Given the description of an element on the screen output the (x, y) to click on. 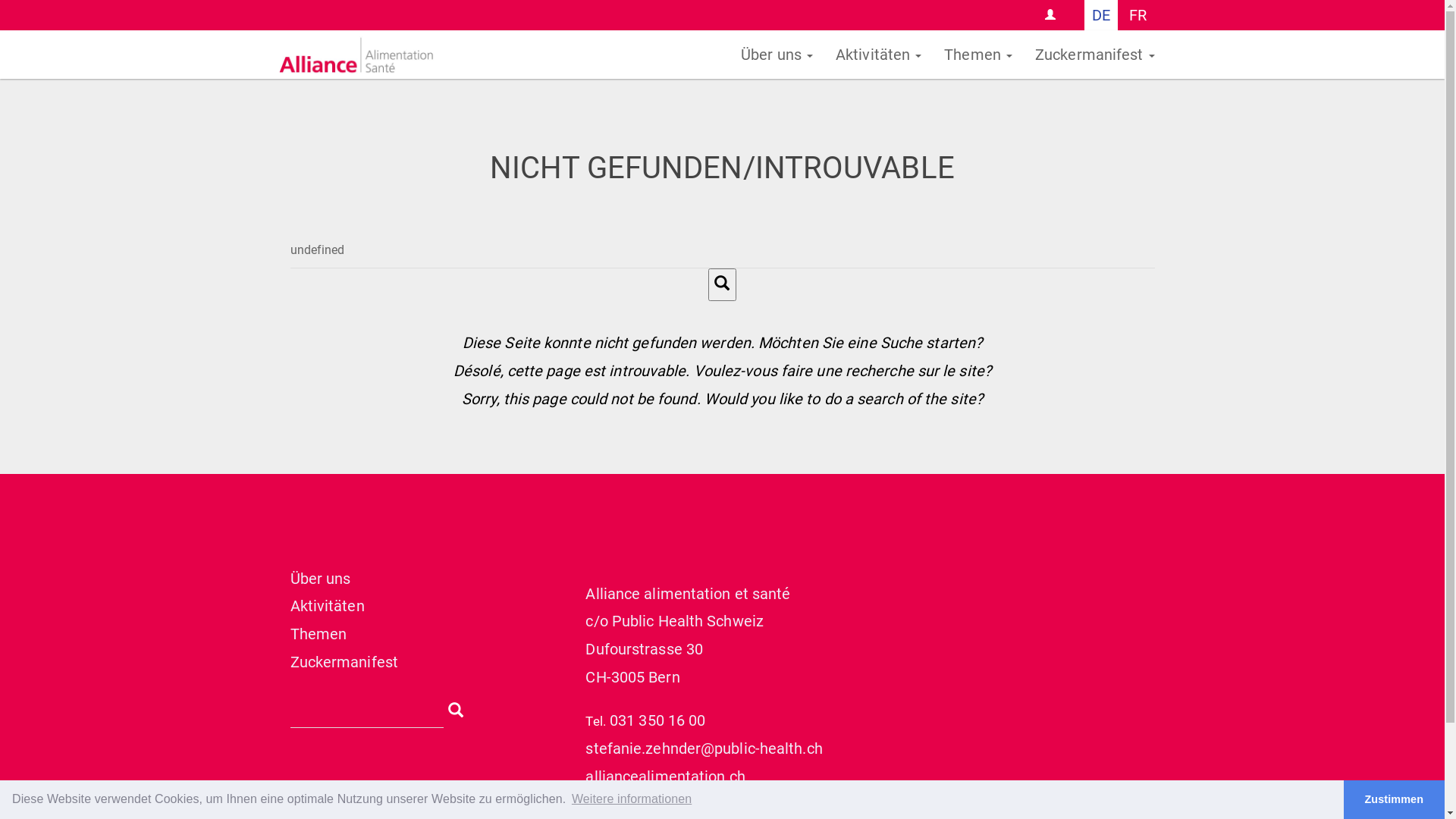
Zuckermanifest Element type: text (343, 661)
Weitere informationen Element type: text (631, 798)
alliancealimentation.ch Element type: text (664, 776)
031 350 16 00 Element type: text (657, 720)
Zuckermanifest Element type: text (1094, 54)
Themen Element type: text (977, 54)
CONTACT Element type: text (1051, 14)
stefanie.zehnder@public-health.ch Element type: text (703, 748)
Search Element type: hover (721, 284)
Themen Element type: text (317, 633)
Search Element type: hover (454, 708)
